Given the description of an element on the screen output the (x, y) to click on. 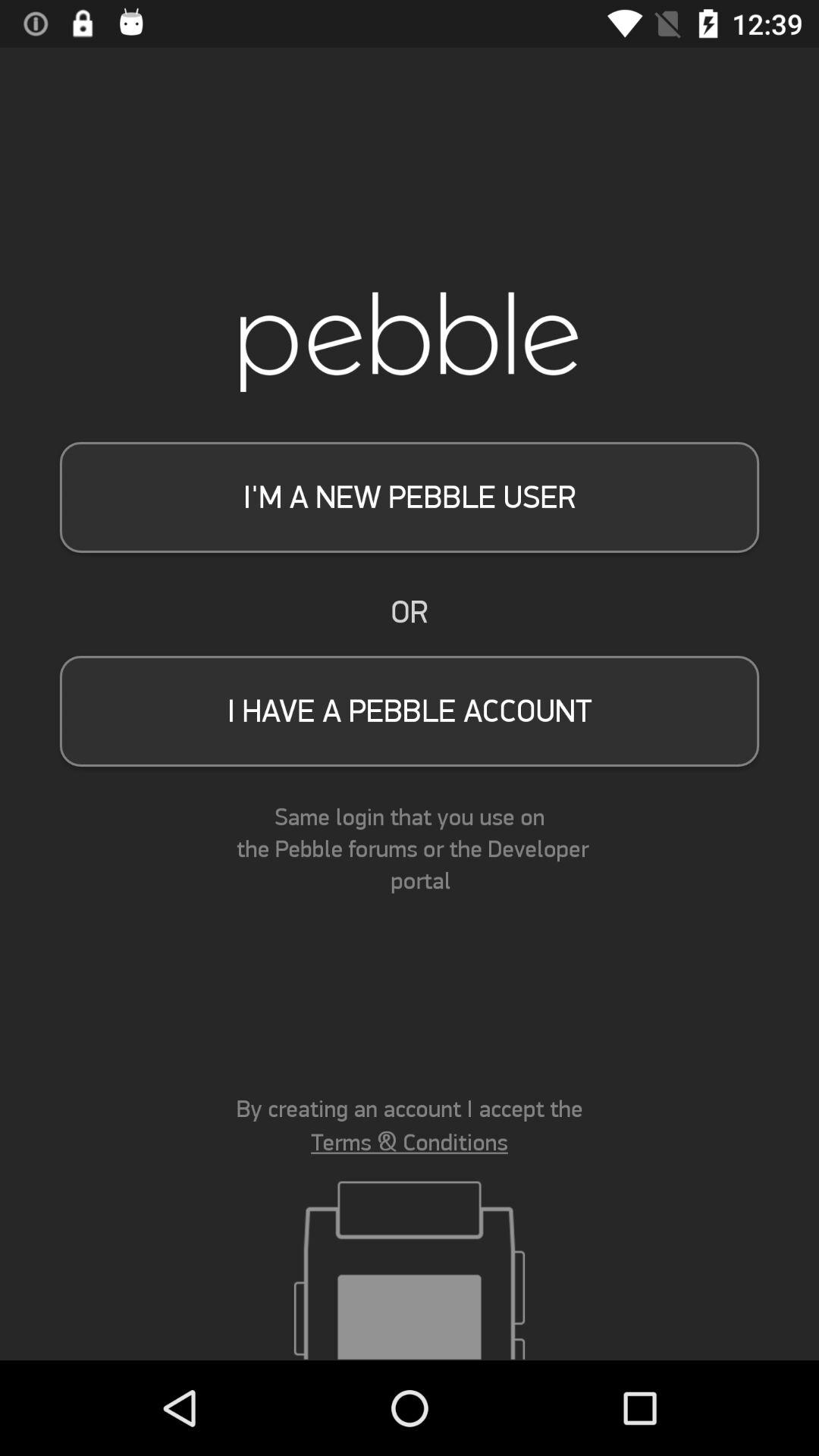
open the terms & conditions item (409, 1142)
